Given the description of an element on the screen output the (x, y) to click on. 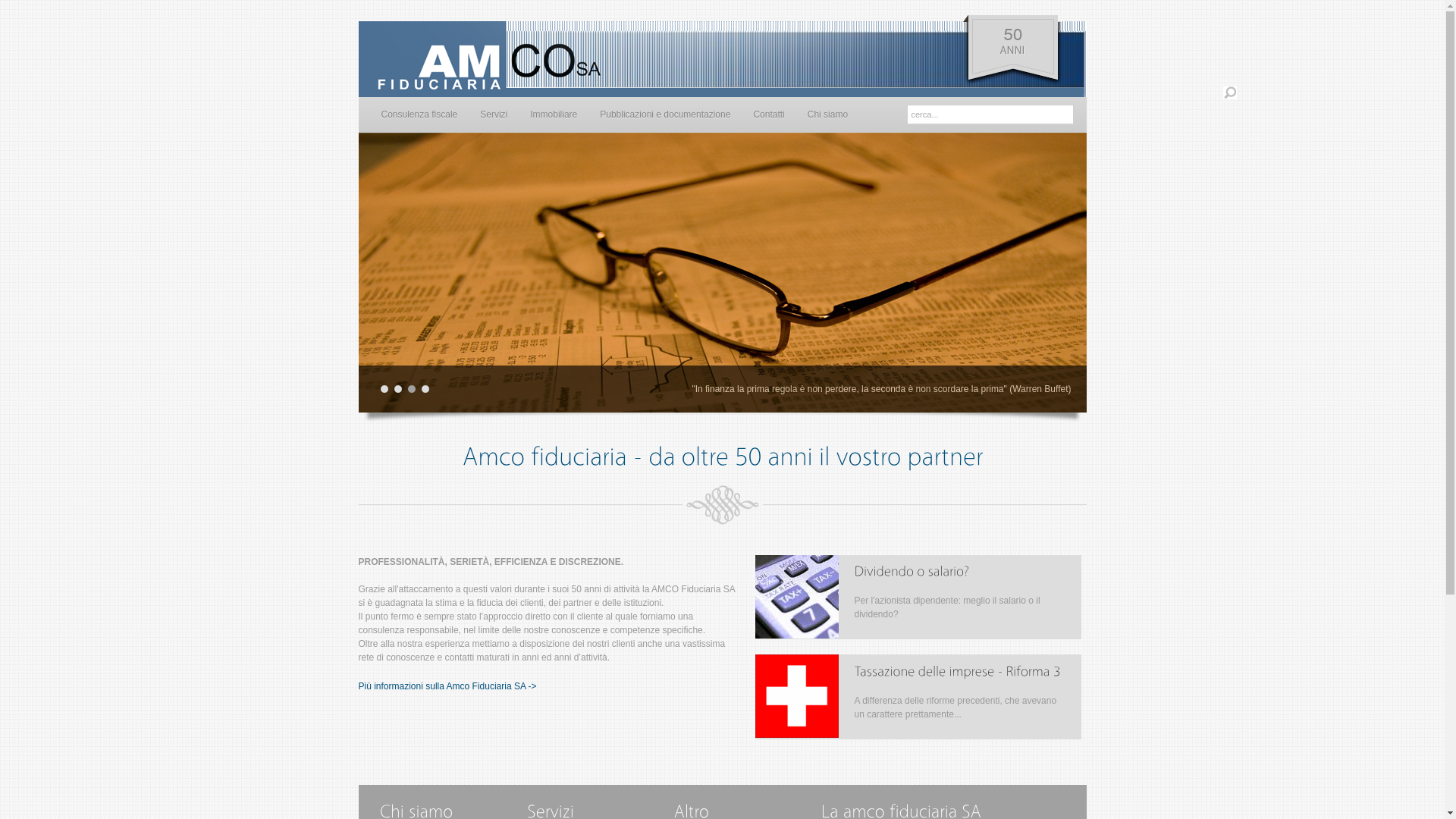
Servizi Element type: text (493, 114)
Immobiliare Element type: text (553, 114)
Contatti Element type: text (768, 114)
1 Element type: text (384, 388)
4 Element type: text (425, 388)
2 Element type: text (397, 388)
3 Element type: text (411, 388)
Pubblicazioni e documentazione Element type: text (664, 114)
Consulenza fiscale Element type: text (418, 114)
Chi siamo Element type: text (827, 114)
